Given the description of an element on the screen output the (x, y) to click on. 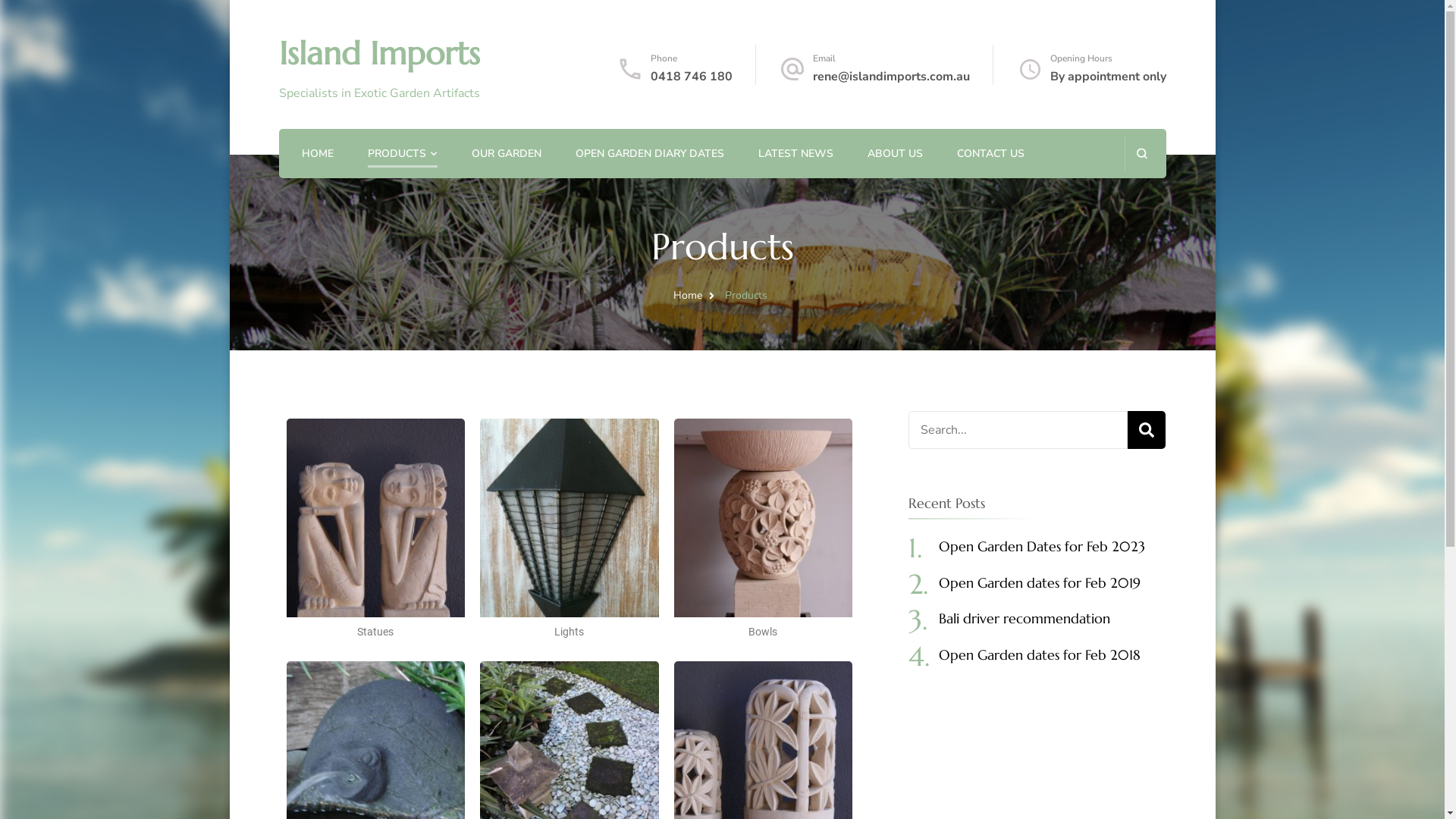
PRODUCTS Element type: text (396, 154)
Island Imports Element type: text (379, 53)
Open Garden Dates for Feb 2023 Element type: text (1041, 546)
Products Element type: text (745, 295)
0418 746 180 Element type: text (691, 76)
HOME Element type: text (317, 154)
ABOUT US Element type: text (894, 154)
OPEN GARDEN DIARY DATES Element type: text (648, 154)
Bali driver recommendation Element type: text (1024, 618)
Search Element type: text (1146, 429)
Home Element type: text (687, 295)
OUR GARDEN Element type: text (506, 154)
Open Garden dates for Feb 2018 Element type: text (1039, 654)
CONTACT US Element type: text (990, 154)
Open Garden dates for Feb 2019 Element type: text (1039, 582)
rene@islandimports.com.au Element type: text (890, 76)
LATEST NEWS Element type: text (795, 154)
